Given the description of an element on the screen output the (x, y) to click on. 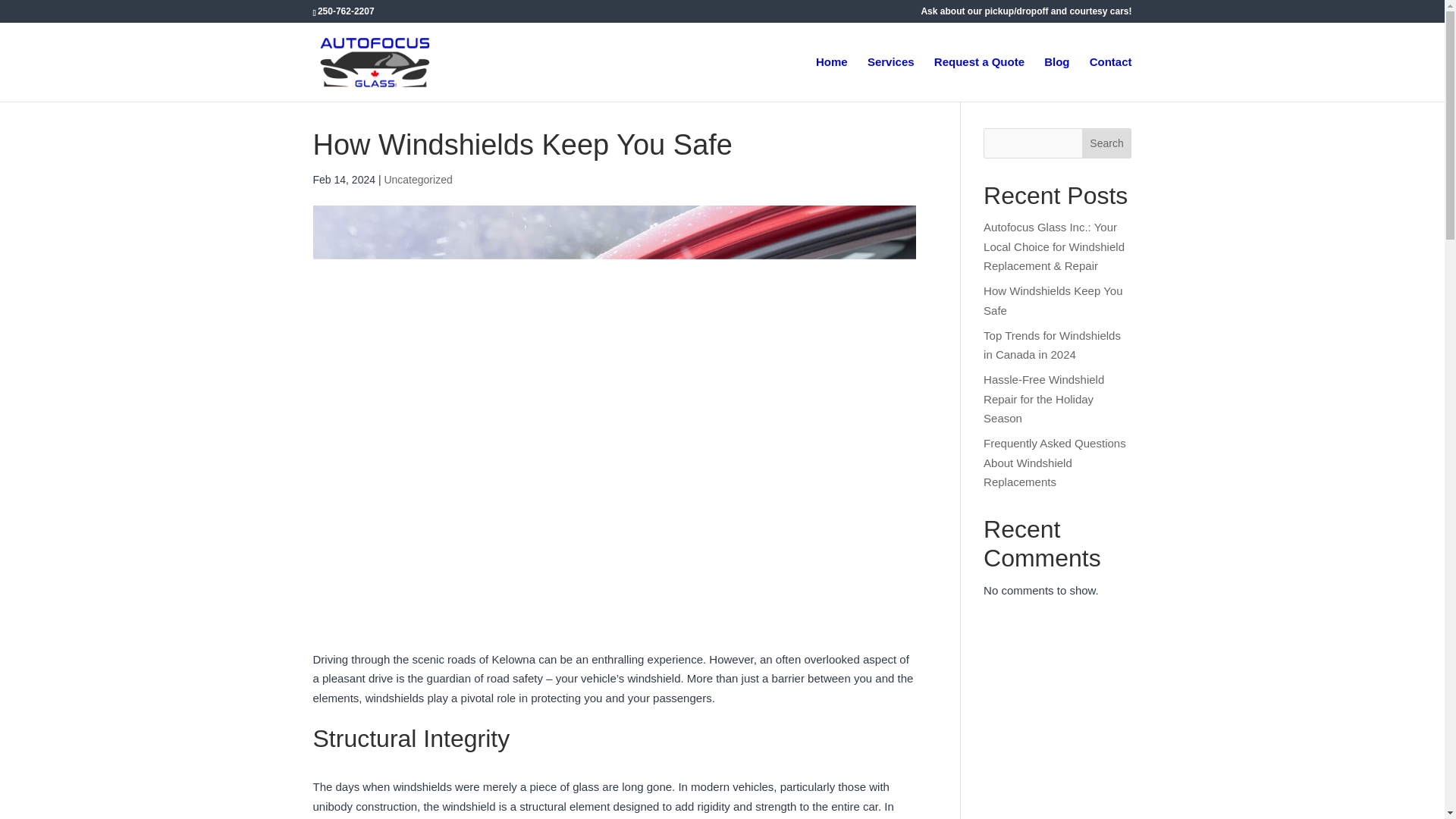
Uncategorized (417, 179)
Top Trends for Windshields in Canada in 2024 (1052, 345)
Hassle-Free Windshield Repair for the Holiday Season (1043, 399)
Contact (1110, 78)
Frequently Asked Questions About Windshield Replacements (1054, 462)
Services (890, 78)
Request a Quote (979, 78)
250-762-2207 (345, 10)
How Windshields Keep You Safe (1053, 300)
Search (1106, 142)
